Given the description of an element on the screen output the (x, y) to click on. 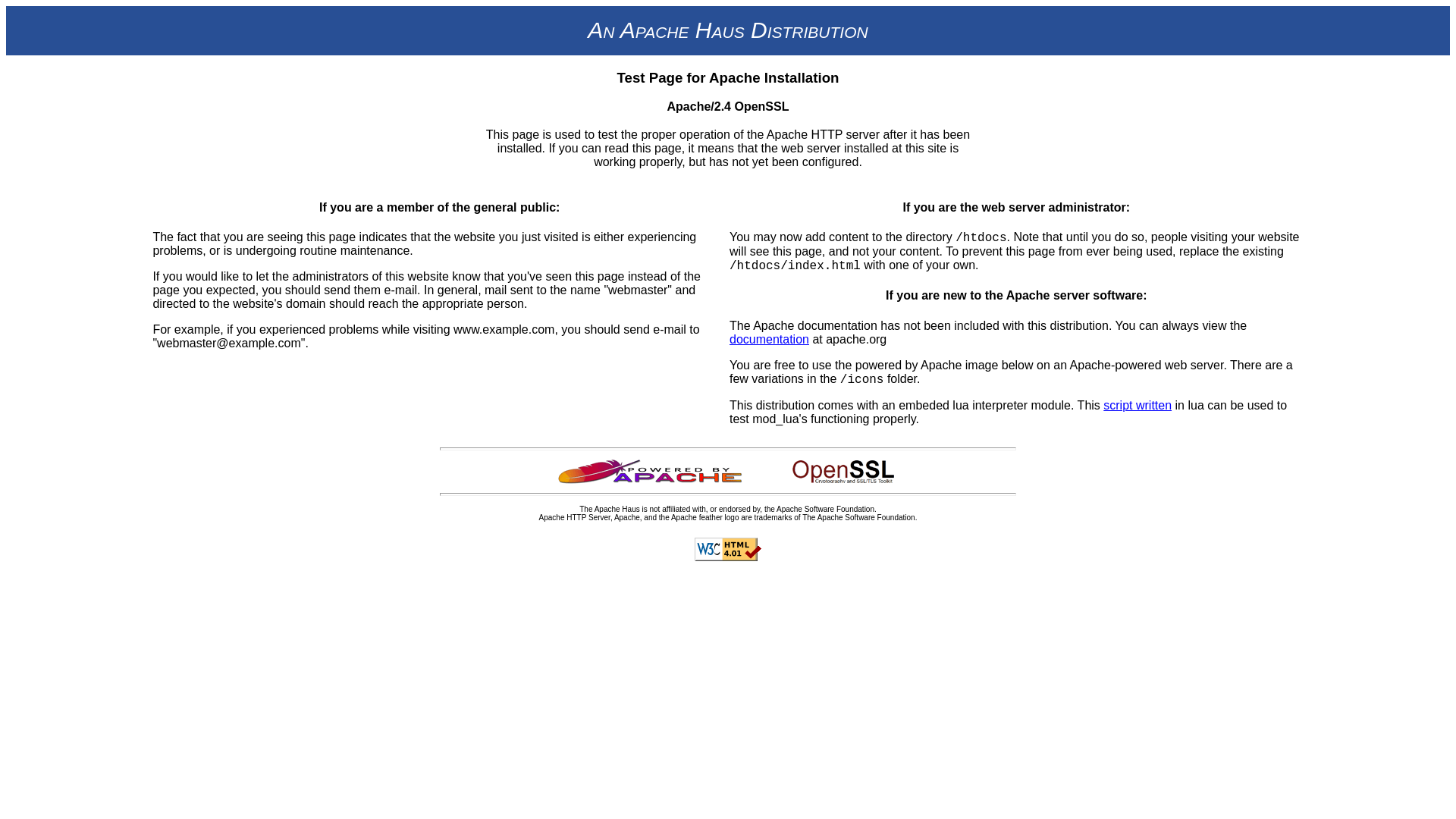
script written Element type: text (1137, 404)
documentation Element type: text (769, 338)
